Given the description of an element on the screen output the (x, y) to click on. 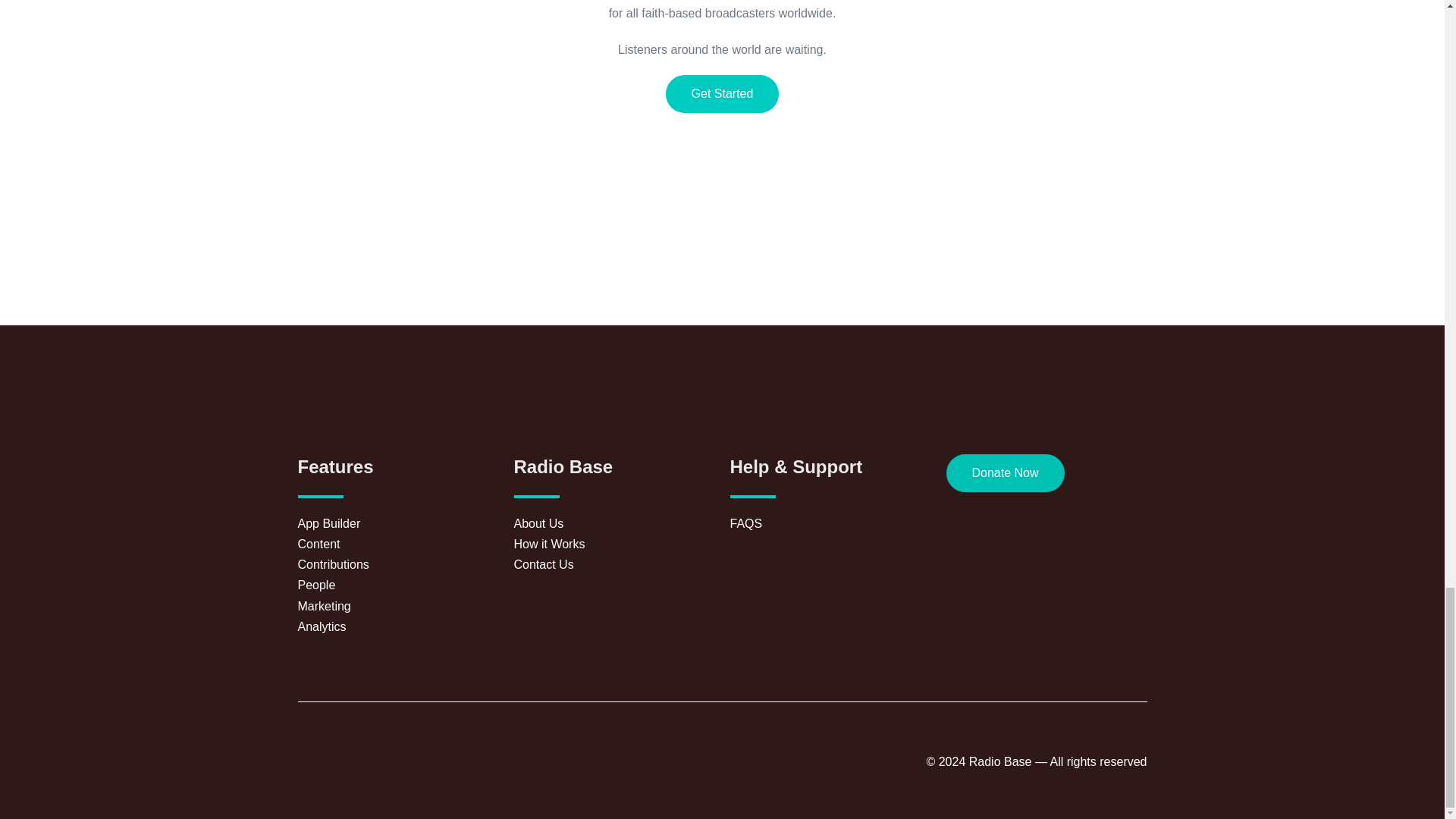
Subscribe (956, 336)
Donate Now (1005, 473)
Get Started (721, 94)
Contributions (397, 564)
Analytics (397, 626)
Content (397, 543)
People (397, 584)
FAQS (829, 523)
How it Works (613, 543)
Marketing (397, 606)
App Builder (397, 523)
Contact Us (613, 564)
About Us (613, 523)
